Given the description of an element on the screen output the (x, y) to click on. 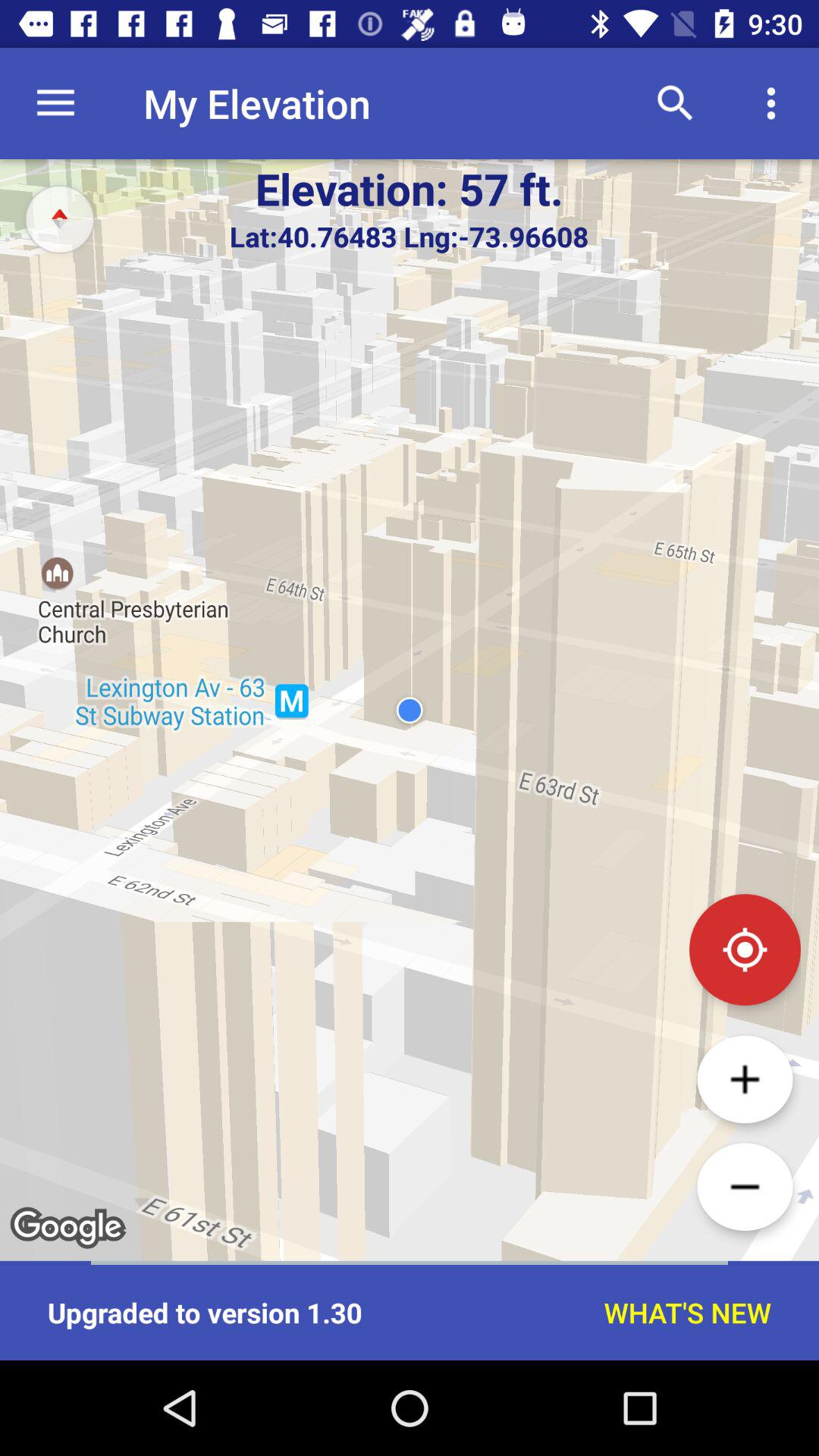
zoom in (744, 1079)
